Given the description of an element on the screen output the (x, y) to click on. 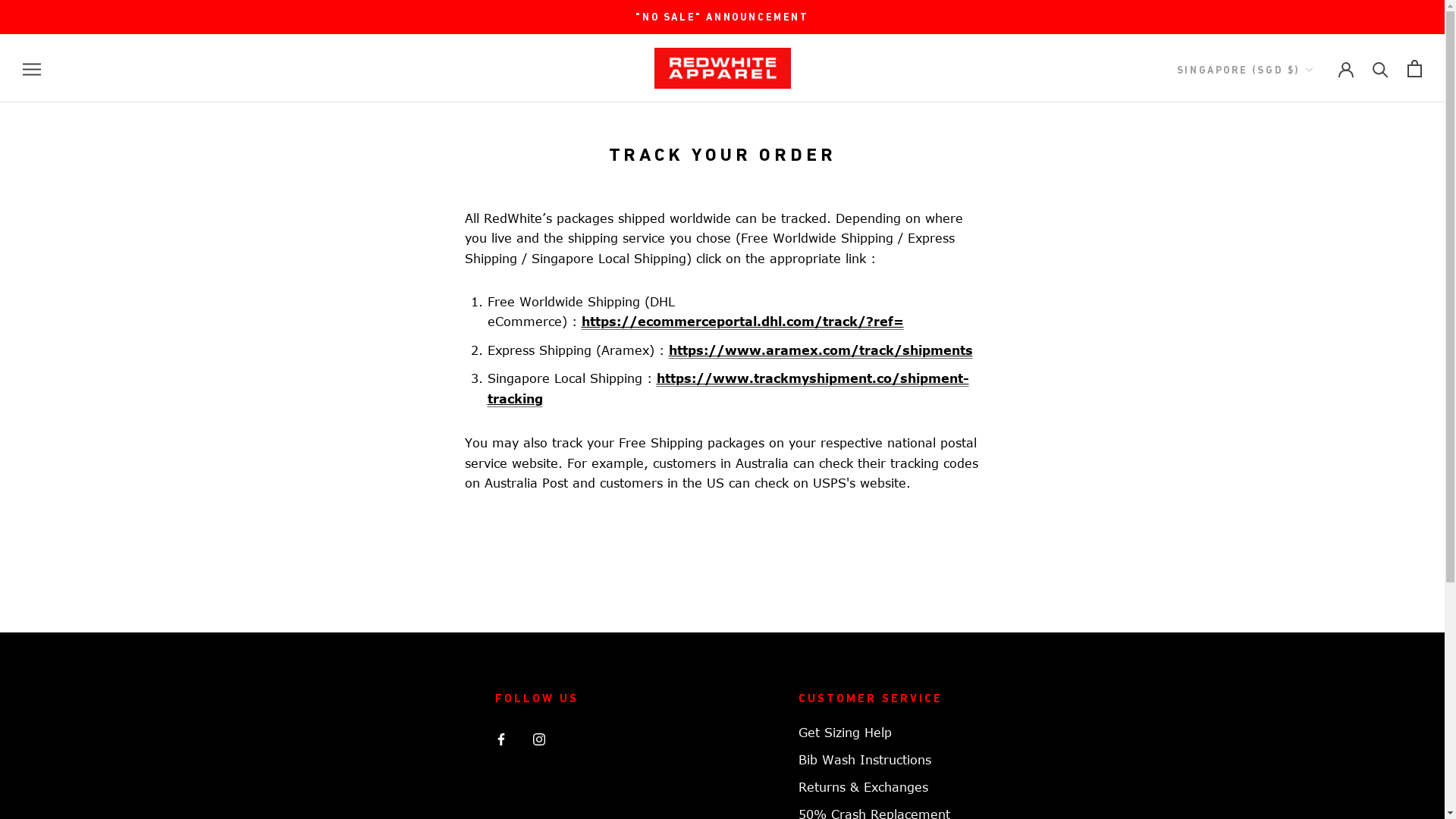
FR Element type: text (1304, 605)
DK Element type: text (1304, 486)
AU Element type: text (1304, 129)
IN Element type: text (1304, 772)
FI Element type: text (1304, 581)
GR Element type: text (1304, 677)
SINGAPORE (SGD $) Element type: text (1245, 69)
AT Element type: text (1304, 152)
GE Element type: text (1304, 629)
Get Sizing Help Element type: text (873, 732)
https://ecommerceportal.dhl.com/track/?ref= Element type: text (741, 321)
CO Element type: text (1304, 390)
BH Element type: text (1304, 176)
"NO SALE" ANNOUNCEMENT Element type: text (721, 16)
EG Element type: text (1304, 534)
EE Element type: text (1304, 557)
BN Element type: text (1304, 248)
HU Element type: text (1304, 725)
CN Element type: text (1304, 367)
CZ Element type: text (1304, 462)
BG Element type: text (1304, 271)
BE Element type: text (1304, 200)
HK Element type: text (1304, 700)
DE Element type: text (1304, 653)
EC Element type: text (1304, 510)
CL Element type: text (1304, 343)
https://www.trackmyshipment.co/shipment-tracking Element type: text (727, 388)
ID Element type: text (1304, 796)
BR Element type: text (1304, 223)
https://www.aramex.com/track/shipments Element type: text (820, 350)
AD Element type: text (1304, 104)
KH Element type: text (1304, 295)
IS Element type: text (1304, 748)
Returns & Exchanges Element type: text (873, 787)
CY Element type: text (1304, 438)
Bib Wash Instructions Element type: text (873, 759)
CA Element type: text (1304, 319)
HR Element type: text (1304, 414)
